Given the description of an element on the screen output the (x, y) to click on. 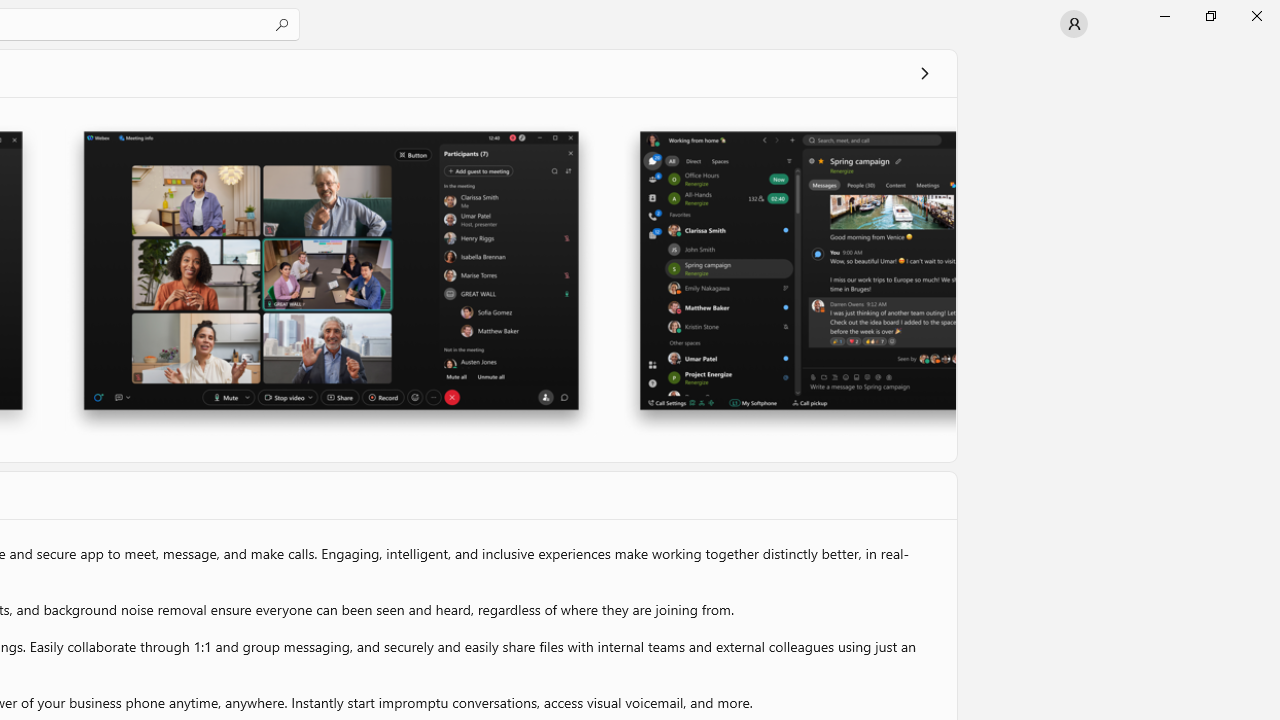
Screenshot 3 (788, 279)
Minimize Microsoft Store (1164, 15)
Restore Microsoft Store (1210, 15)
User profile (1073, 24)
See all (924, 72)
Close Microsoft Store (1256, 15)
Screenshot 2 (330, 279)
